Given the description of an element on the screen output the (x, y) to click on. 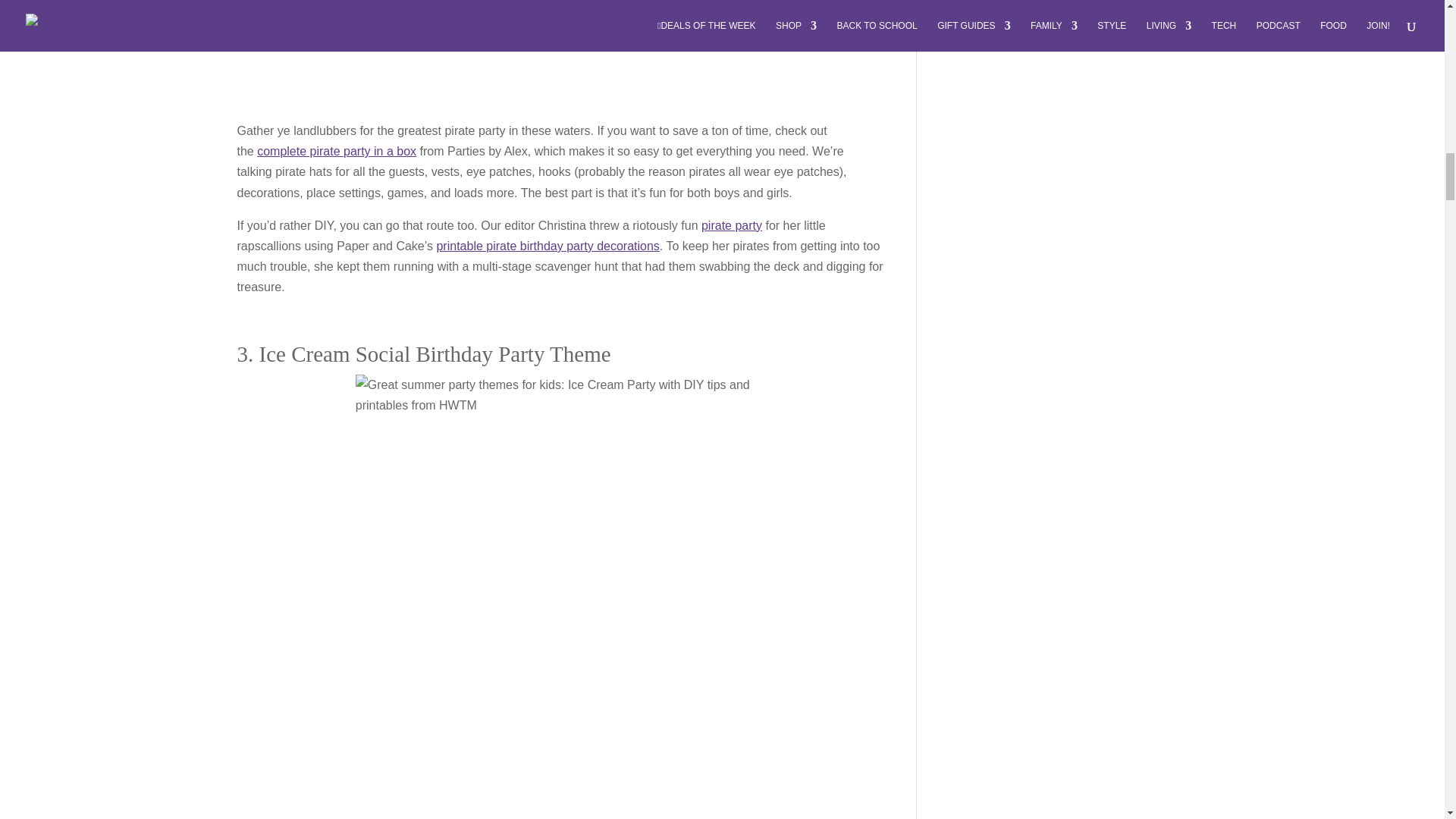
Pirate party on The Fairly Odd Mother (731, 225)
